Given the description of an element on the screen output the (x, y) to click on. 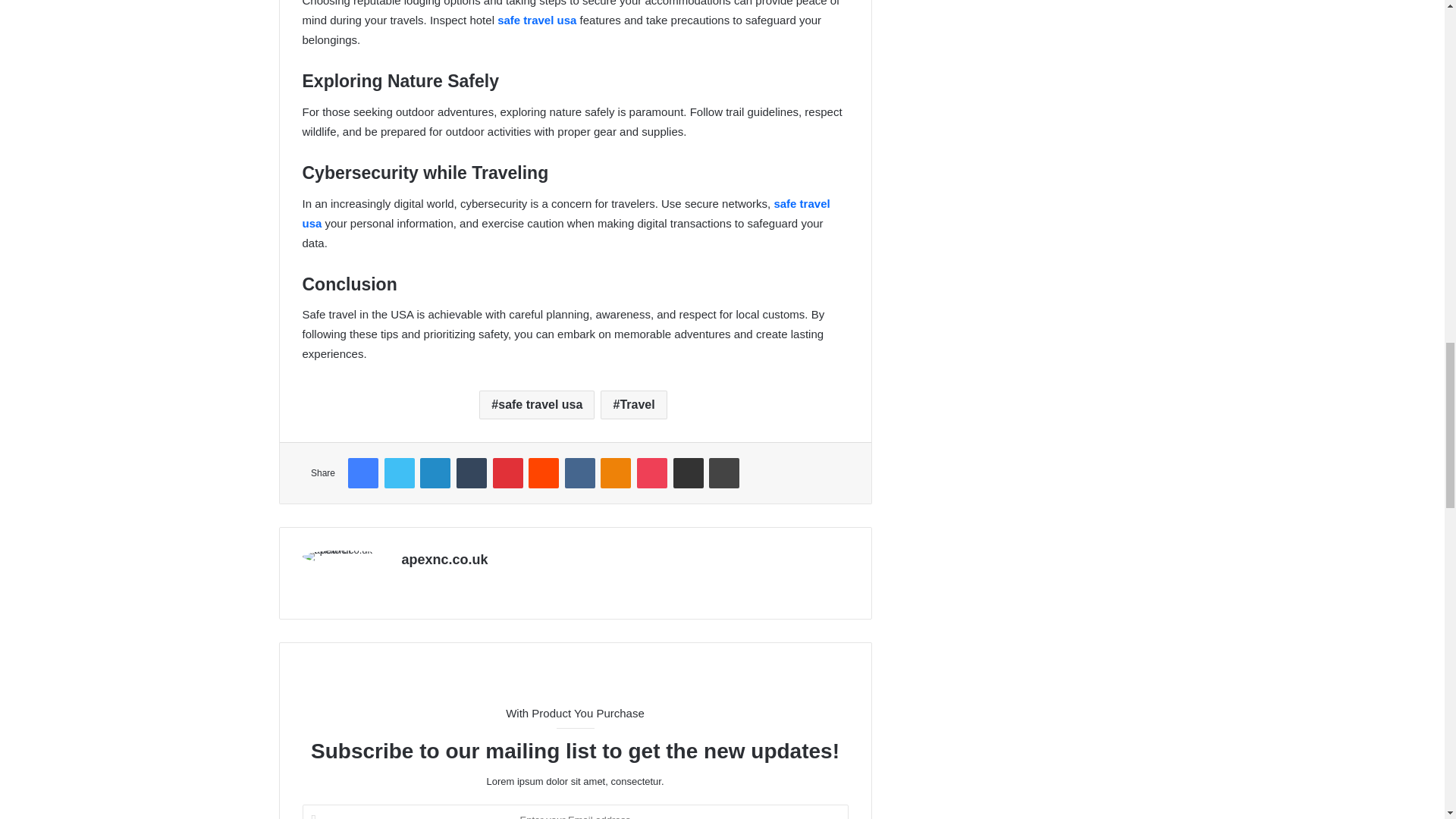
Travel (632, 404)
safe travel usa (536, 404)
safe travel usa (536, 19)
safe travel usa (565, 213)
